Given the description of an element on the screen output the (x, y) to click on. 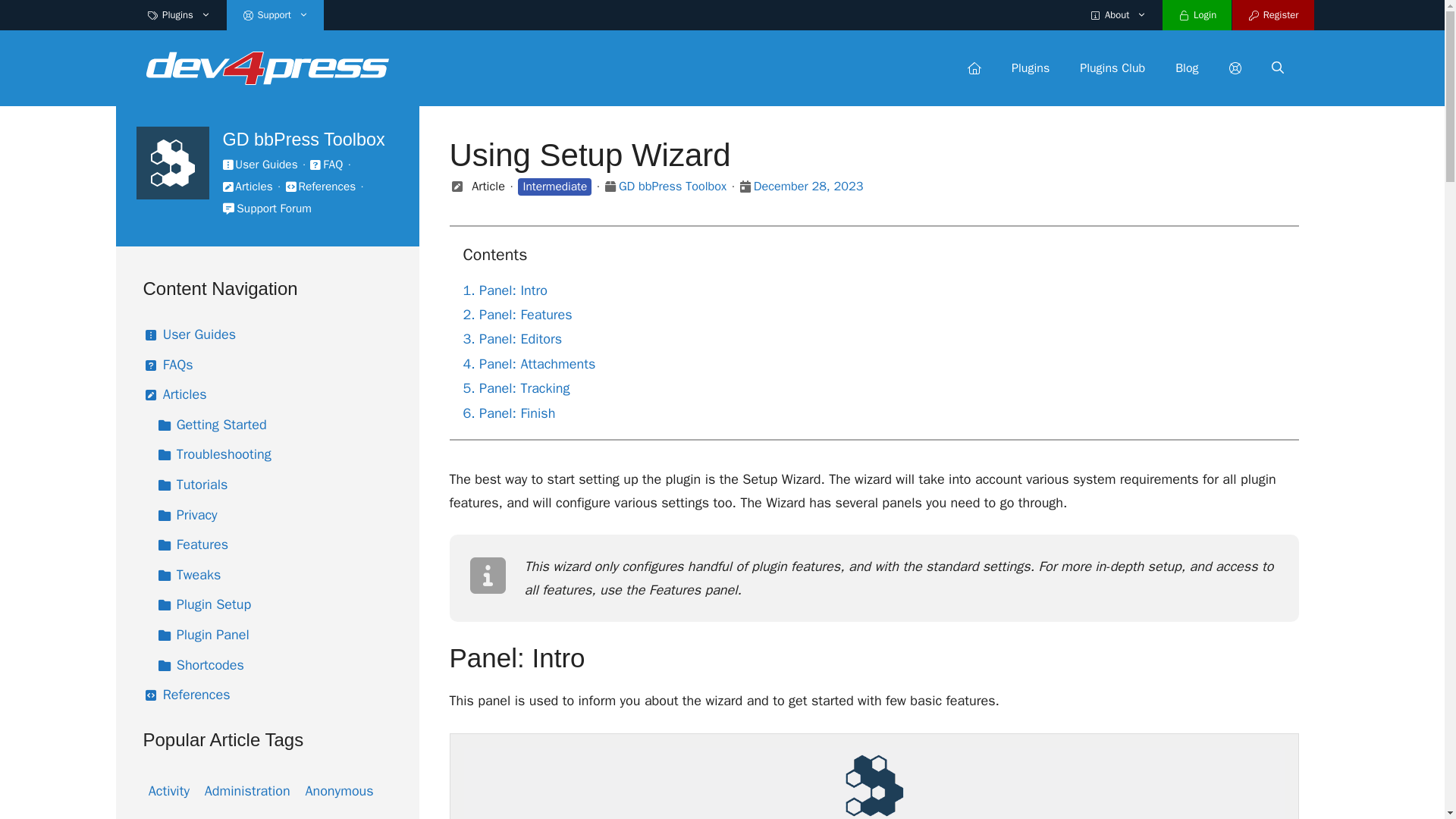
Support (1233, 67)
Dev4Press Support (266, 67)
Login (1196, 15)
Plugins (178, 15)
Plugins (1029, 67)
Support (275, 15)
Blog (1186, 67)
Register (1272, 15)
Plugins Club (1112, 67)
About (1117, 15)
